Given the description of an element on the screen output the (x, y) to click on. 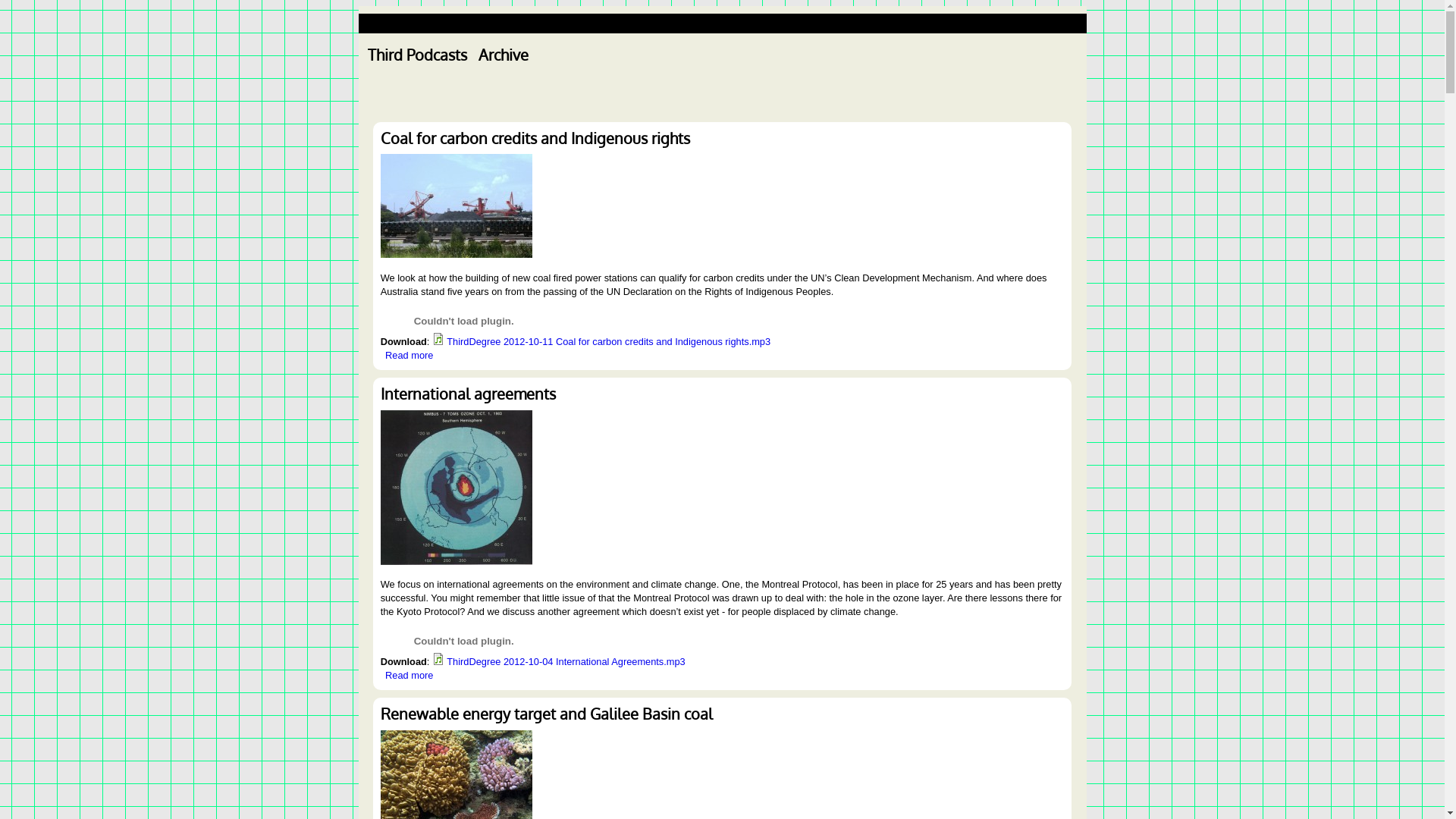
Image by OZinOH on Flickr Element type: hover (456, 205)
Archive Element type: text (503, 54)
Image by NASA Goddard Photo and Video on Flickr Element type: hover (456, 487)
Third Podcasts Element type: text (417, 54)
Read more
about Element type: text (409, 674)
Read more
about Element type: text (409, 354)
ThirdDegree 2012-10-04 International Agreements.mp3 Element type: text (565, 661)
audio/mpeg Element type: hover (438, 658)
audio/mpeg Element type: hover (438, 338)
